Given the description of an element on the screen output the (x, y) to click on. 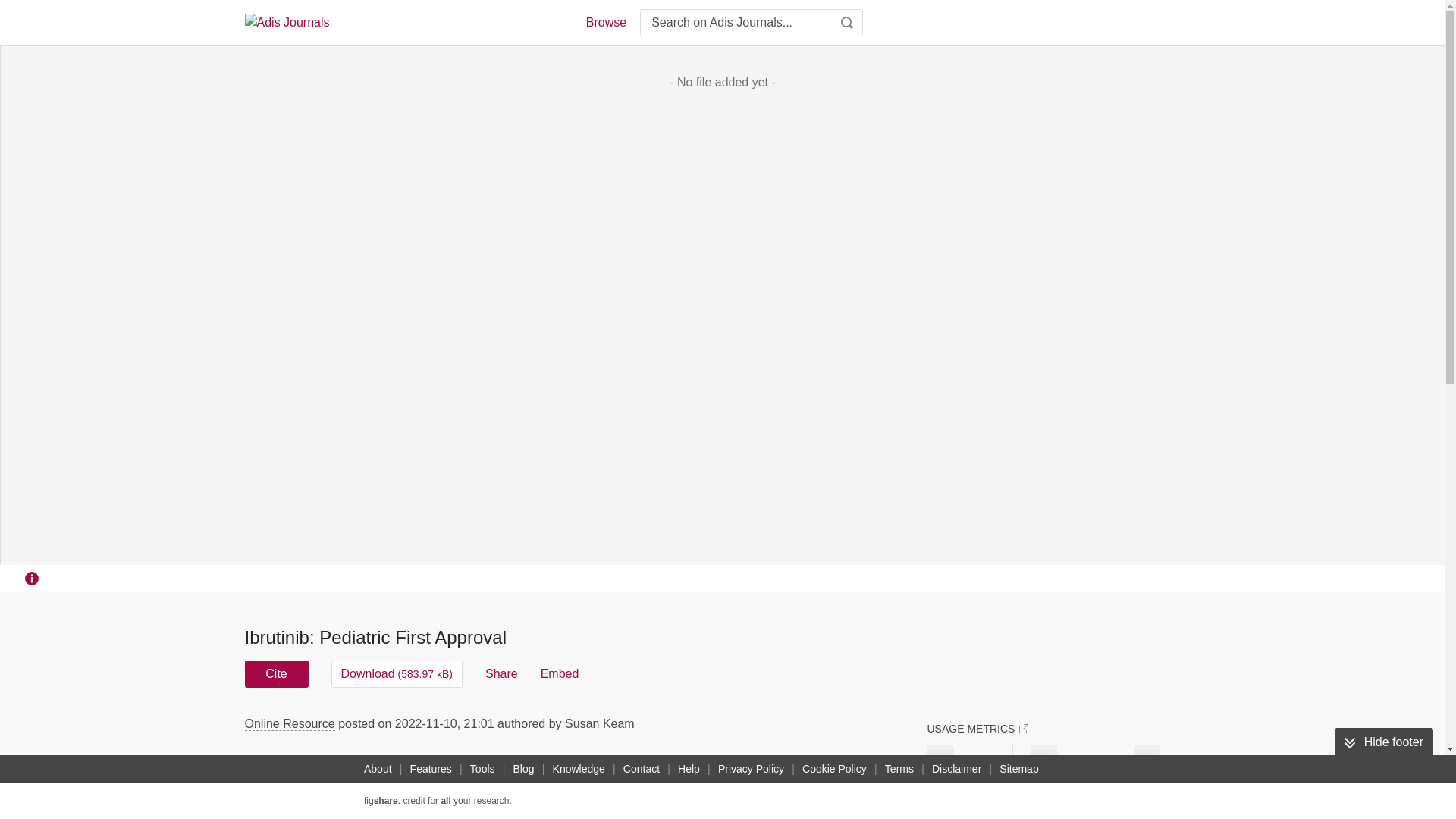
Share (501, 673)
USAGE METRICS (976, 728)
Embed (559, 673)
Tools (482, 769)
Contact (640, 769)
Help (688, 769)
Hide footer (1383, 742)
Blog (523, 769)
Cookie Policy (833, 769)
Cite (275, 673)
